Given the description of an element on the screen output the (x, y) to click on. 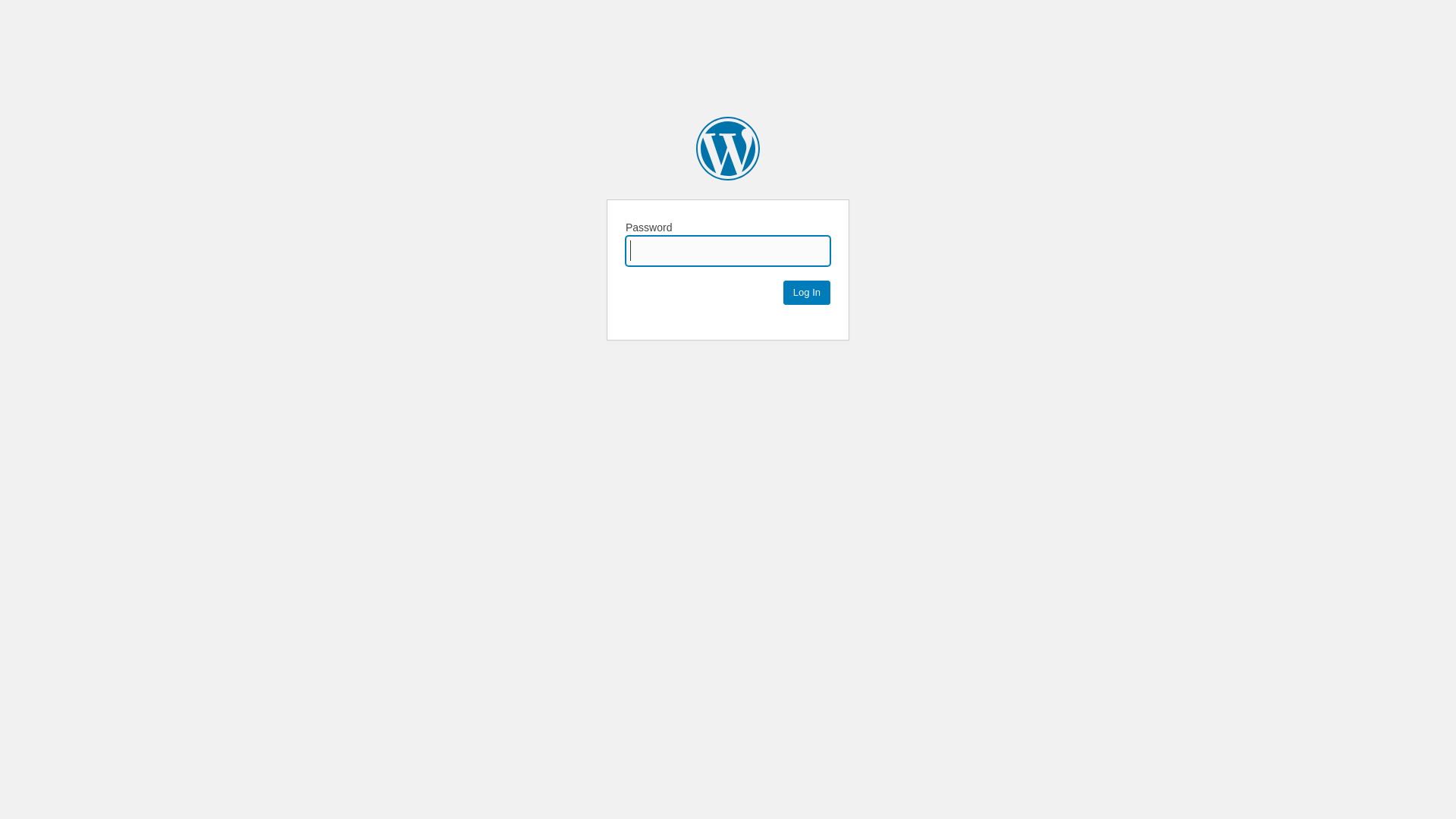
UN-Australia Sustainable Partnerships Forum 2020 Element type: text (727, 148)
Log In Element type: text (806, 292)
